Given the description of an element on the screen output the (x, y) to click on. 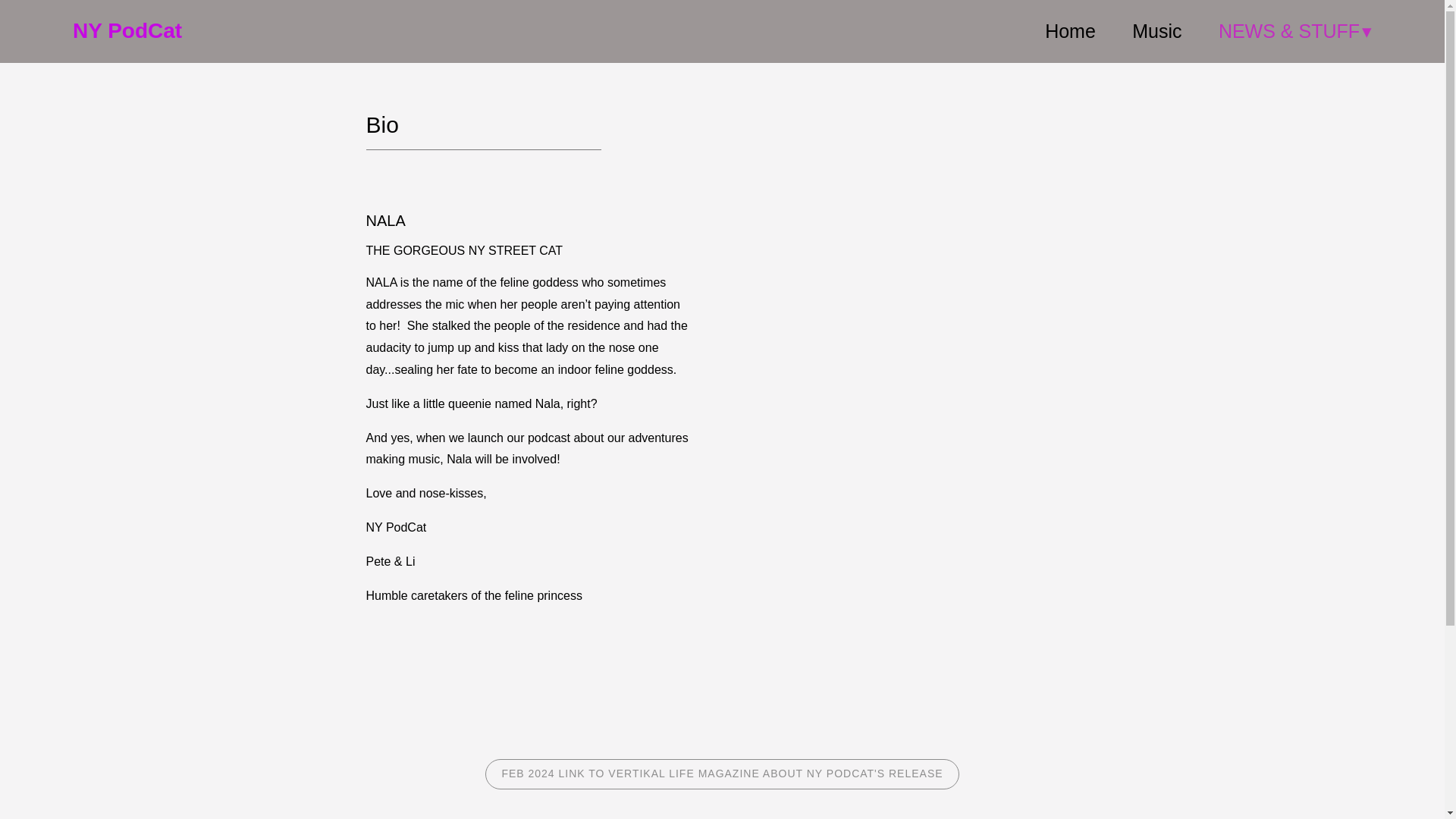
Music (1156, 31)
Home (1070, 31)
NY PodCat (127, 31)
